Given the description of an element on the screen output the (x, y) to click on. 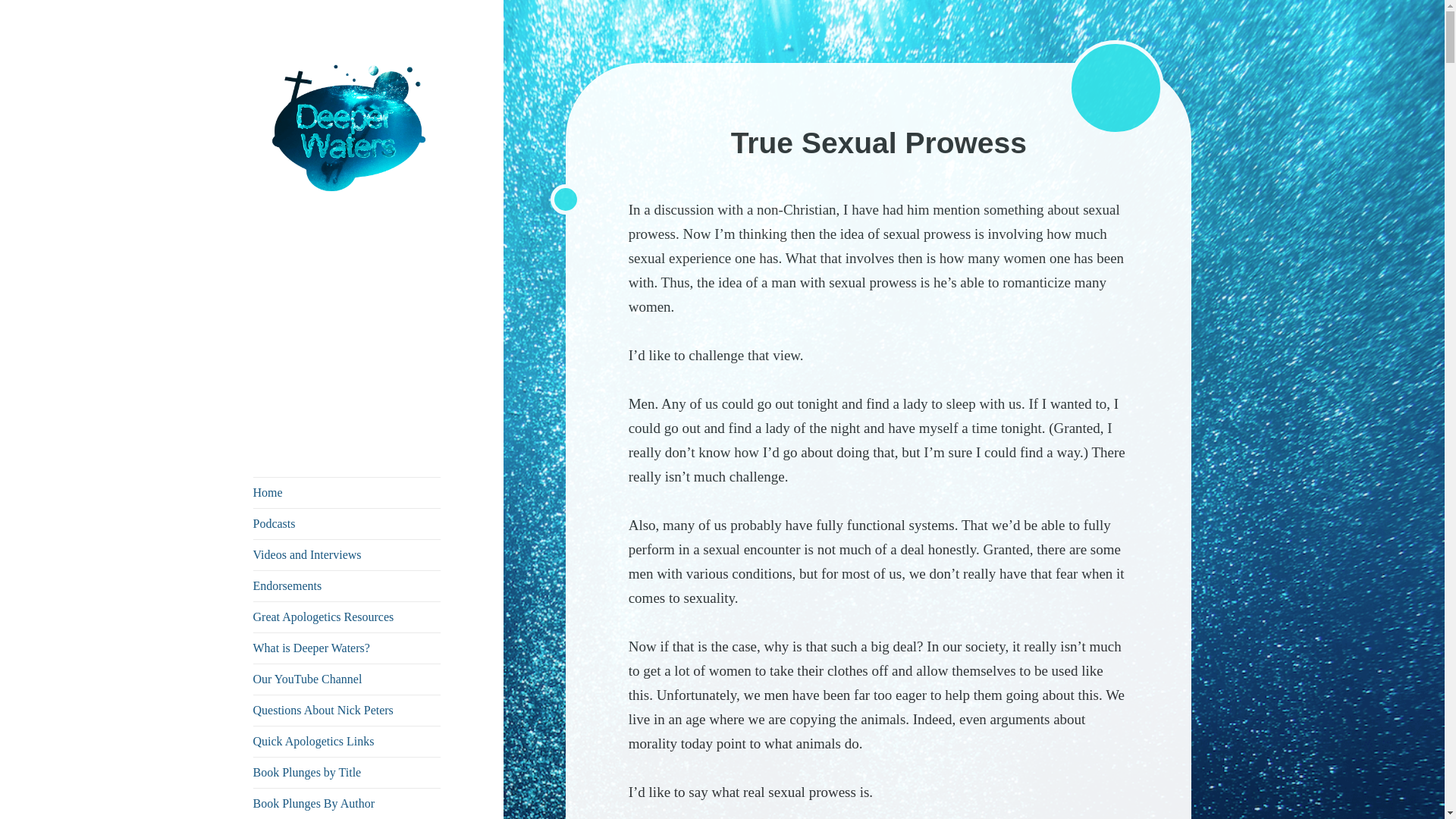
Book Plunges by Title (347, 772)
Endorsements (347, 585)
Videos and Interviews (347, 554)
Our YouTube Channel (347, 679)
Book Plunges By Author (347, 803)
Great Apologetics Resources (347, 616)
Home (347, 492)
Quick Apologetics Links (347, 741)
What is Deeper Waters? (347, 648)
Podcasts (347, 523)
Questions About Nick Peters (347, 710)
